Given the description of an element on the screen output the (x, y) to click on. 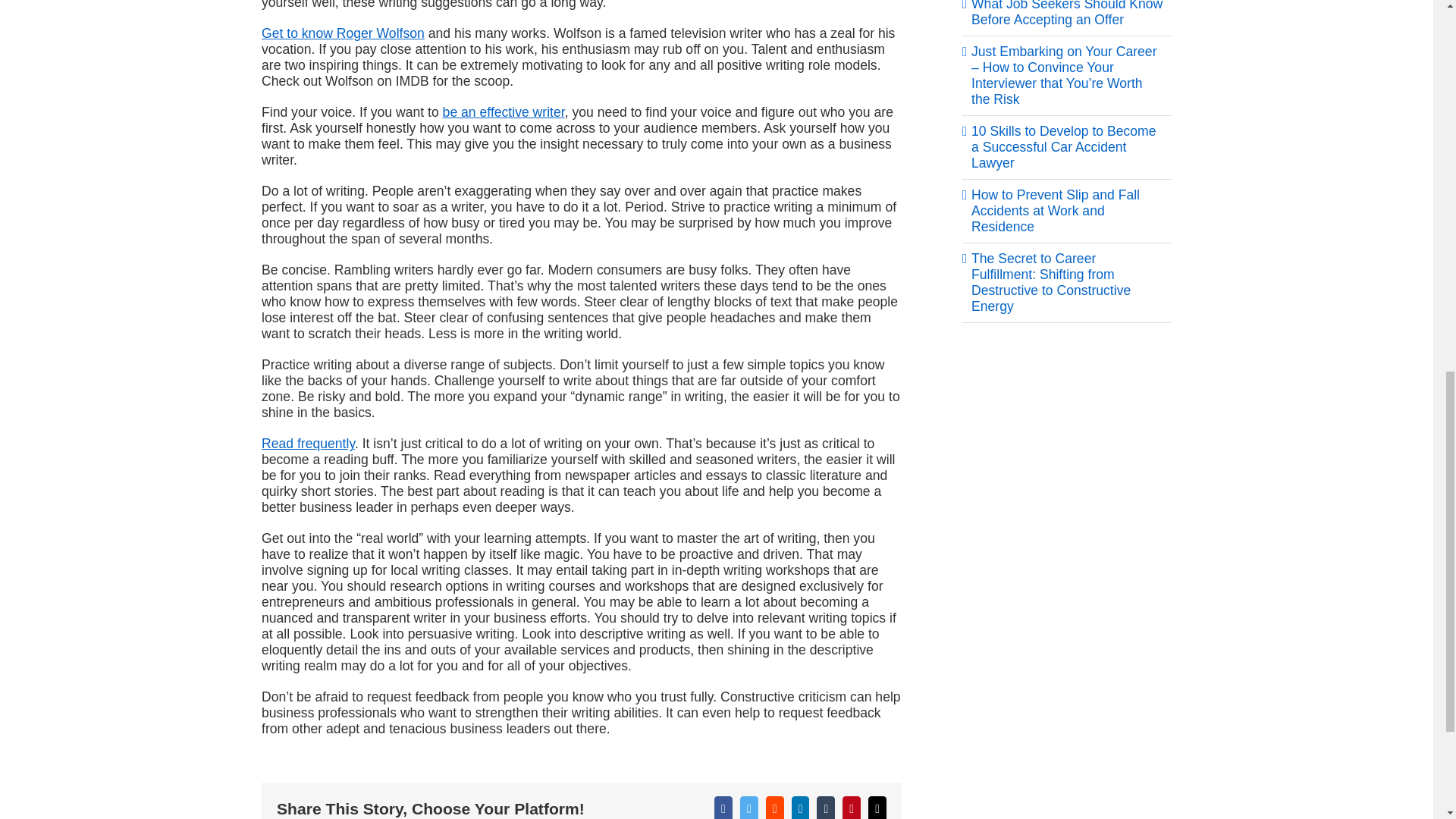
How to Prevent Slip and Fall Accidents at Work and Residence (1055, 210)
Get to know Roger Wolfson (343, 32)
Read frequently (308, 443)
be an effective writer (503, 111)
What Job Seekers Should Know Before Accepting an Offer (1066, 13)
